Given the description of an element on the screen output the (x, y) to click on. 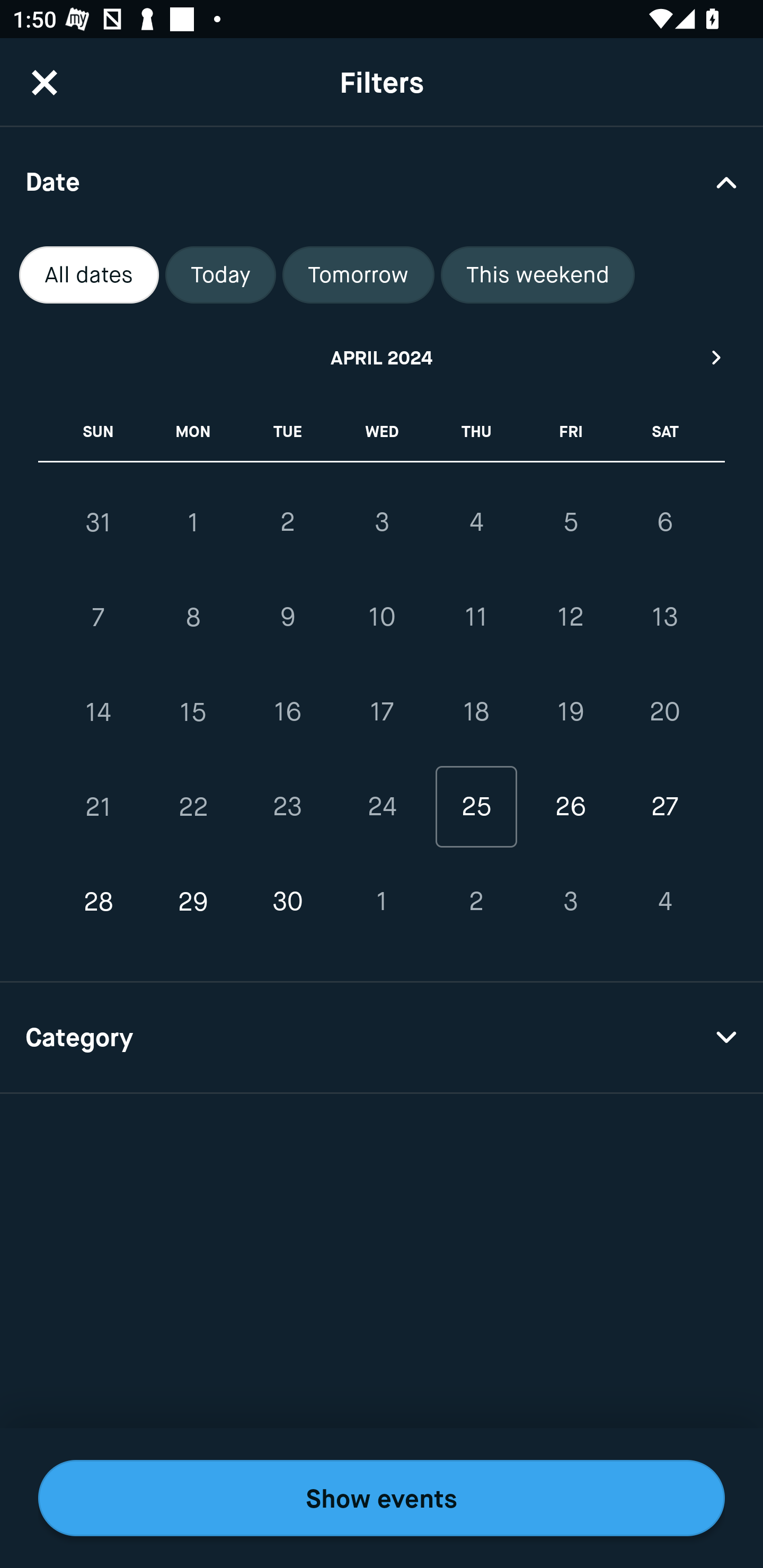
CloseButton (44, 82)
Date Drop Down Arrow (381, 181)
All dates (88, 274)
Today (220, 274)
Tomorrow (358, 274)
This weekend (537, 274)
Next (717, 357)
31 (98, 522)
1 (192, 522)
2 (287, 522)
3 (381, 522)
4 (475, 522)
5 (570, 522)
6 (664, 522)
7 (98, 617)
8 (192, 617)
9 (287, 617)
10 (381, 617)
11 (475, 617)
12 (570, 617)
13 (664, 617)
14 (98, 711)
15 (192, 711)
16 (287, 711)
17 (381, 711)
18 (475, 711)
19 (570, 711)
20 (664, 711)
21 (98, 806)
22 (192, 806)
23 (287, 806)
24 (381, 806)
25 (475, 806)
26 (570, 806)
27 (664, 806)
28 (98, 901)
29 (192, 901)
30 (287, 901)
1 (381, 901)
2 (475, 901)
3 (570, 901)
4 (664, 901)
Category Drop Down Arrow (381, 1038)
Show events (381, 1497)
